Given the description of an element on the screen output the (x, y) to click on. 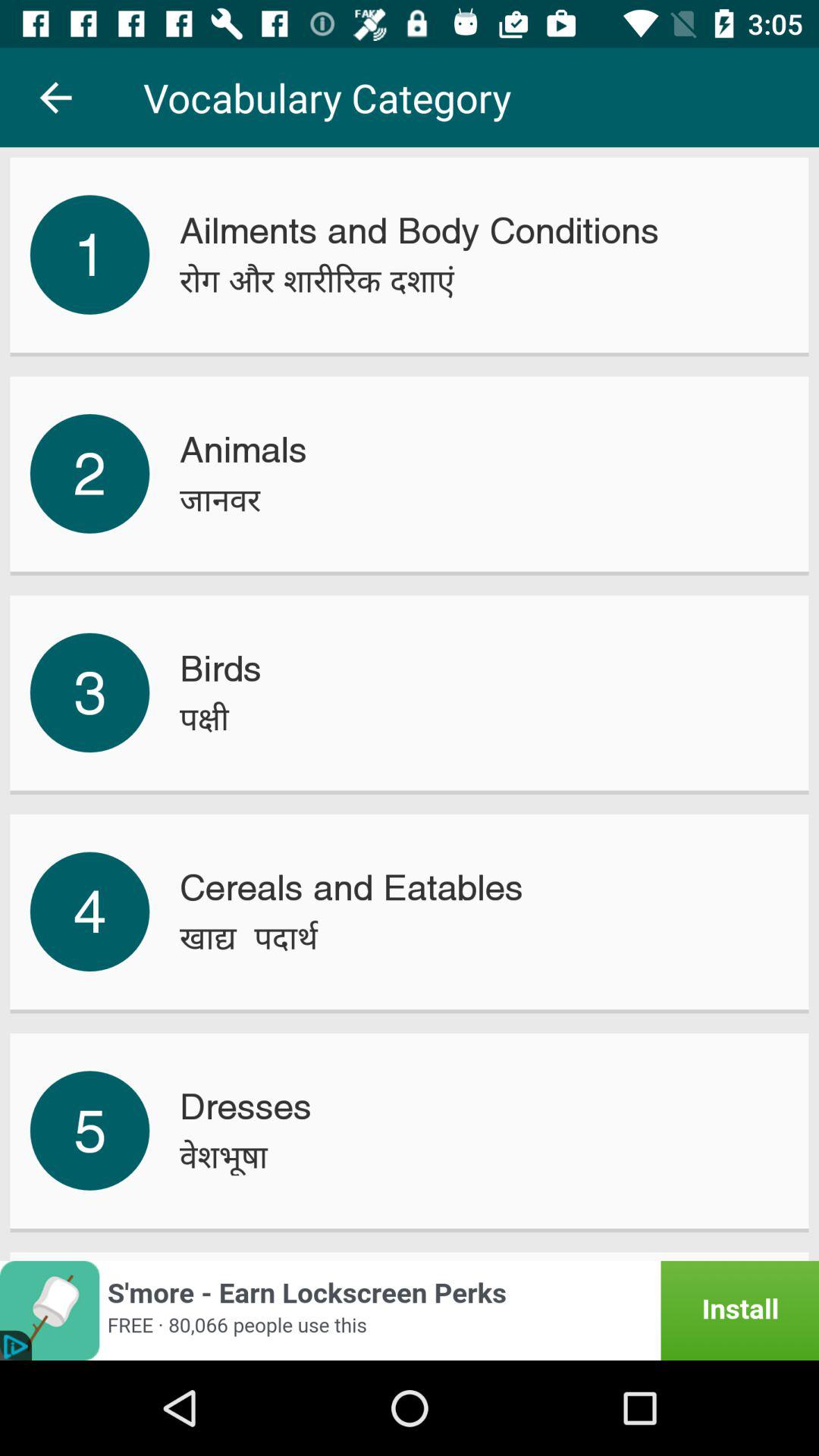
scroll until birds icon (220, 668)
